Given the description of an element on the screen output the (x, y) to click on. 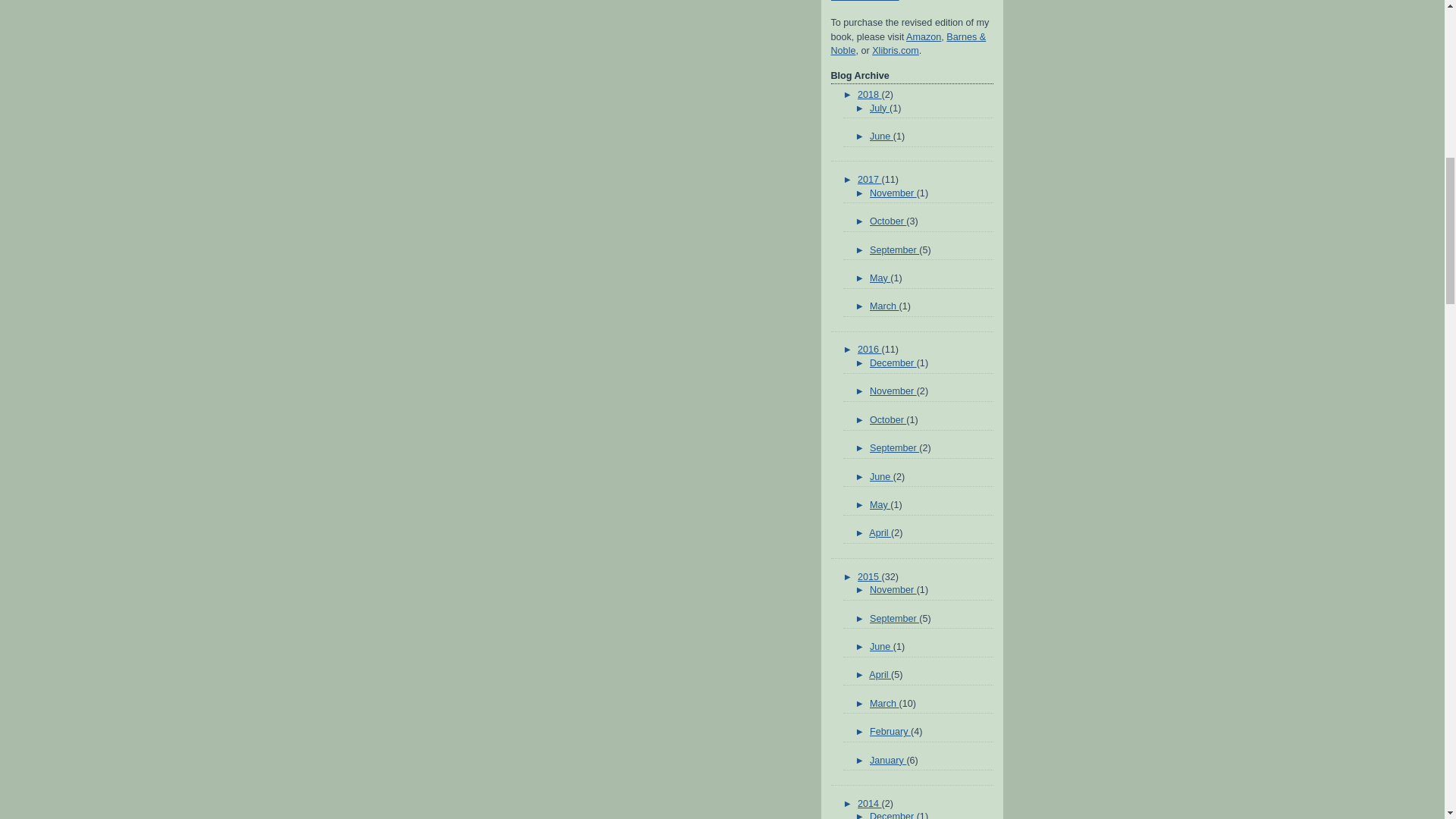
Xlibris.com (895, 50)
Amazon (922, 36)
2018 (869, 94)
June (881, 136)
July (879, 108)
